Given the description of an element on the screen output the (x, y) to click on. 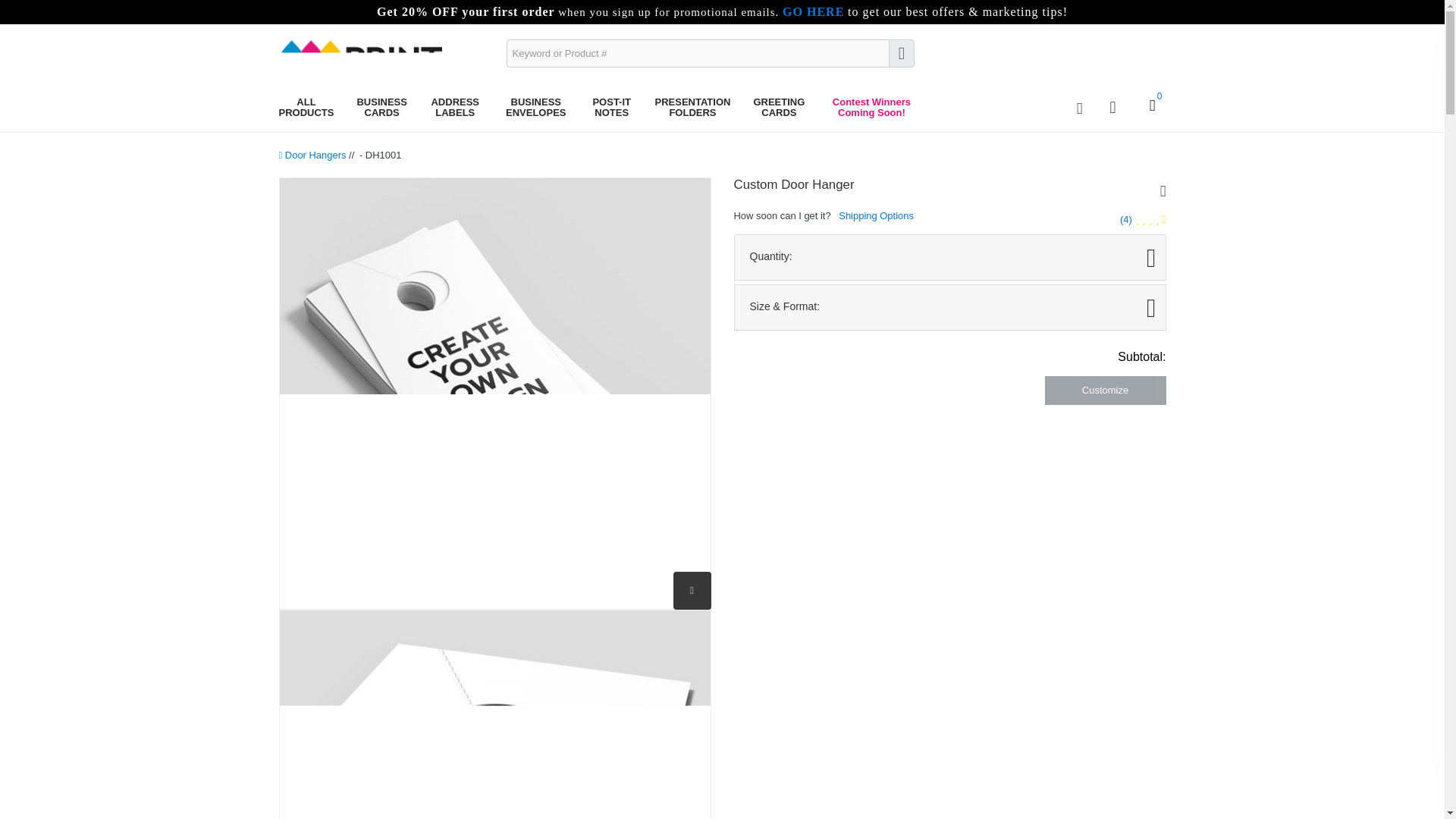
Favorites (1080, 107)
ALL PRODUCTS (306, 107)
GO HERE (813, 12)
NEW Contest! (871, 107)
Shopping Cart (1150, 107)
Set as Favorite (1161, 190)
